Given the description of an element on the screen output the (x, y) to click on. 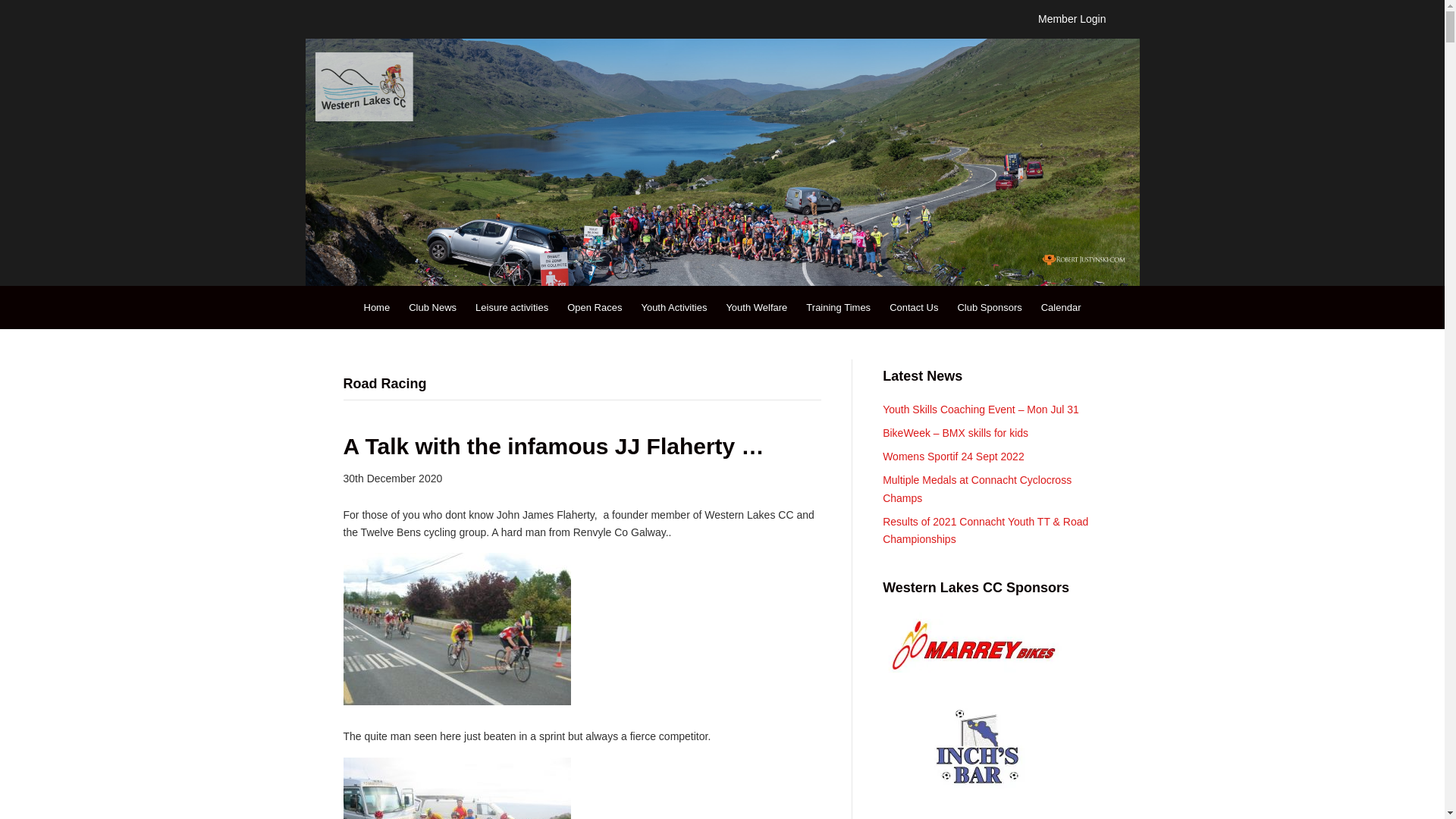
Youth Welfare (756, 306)
Youth Activities (673, 306)
Club News (431, 306)
Member Login (1071, 19)
Contact Us (913, 306)
Home (376, 306)
Calendar (1061, 306)
Open Races (593, 306)
Club Sponsors (988, 306)
Leisure activities (511, 306)
Training Times (837, 306)
